Given the description of an element on the screen output the (x, y) to click on. 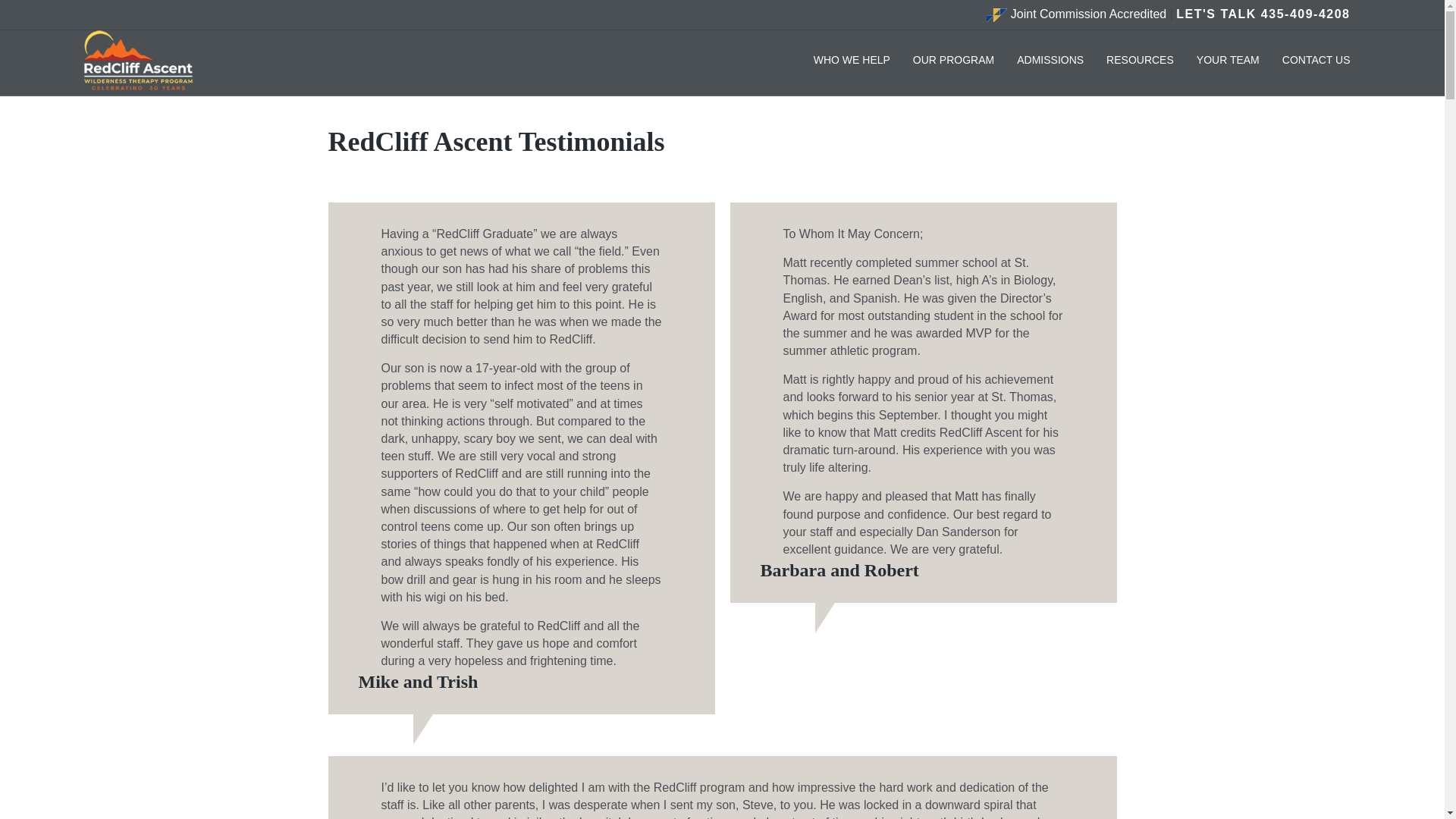
OUR PROGRAM (953, 60)
LET'S TALK 435-409-4208 (1262, 13)
WHO WE HELP (851, 60)
